Given the description of an element on the screen output the (x, y) to click on. 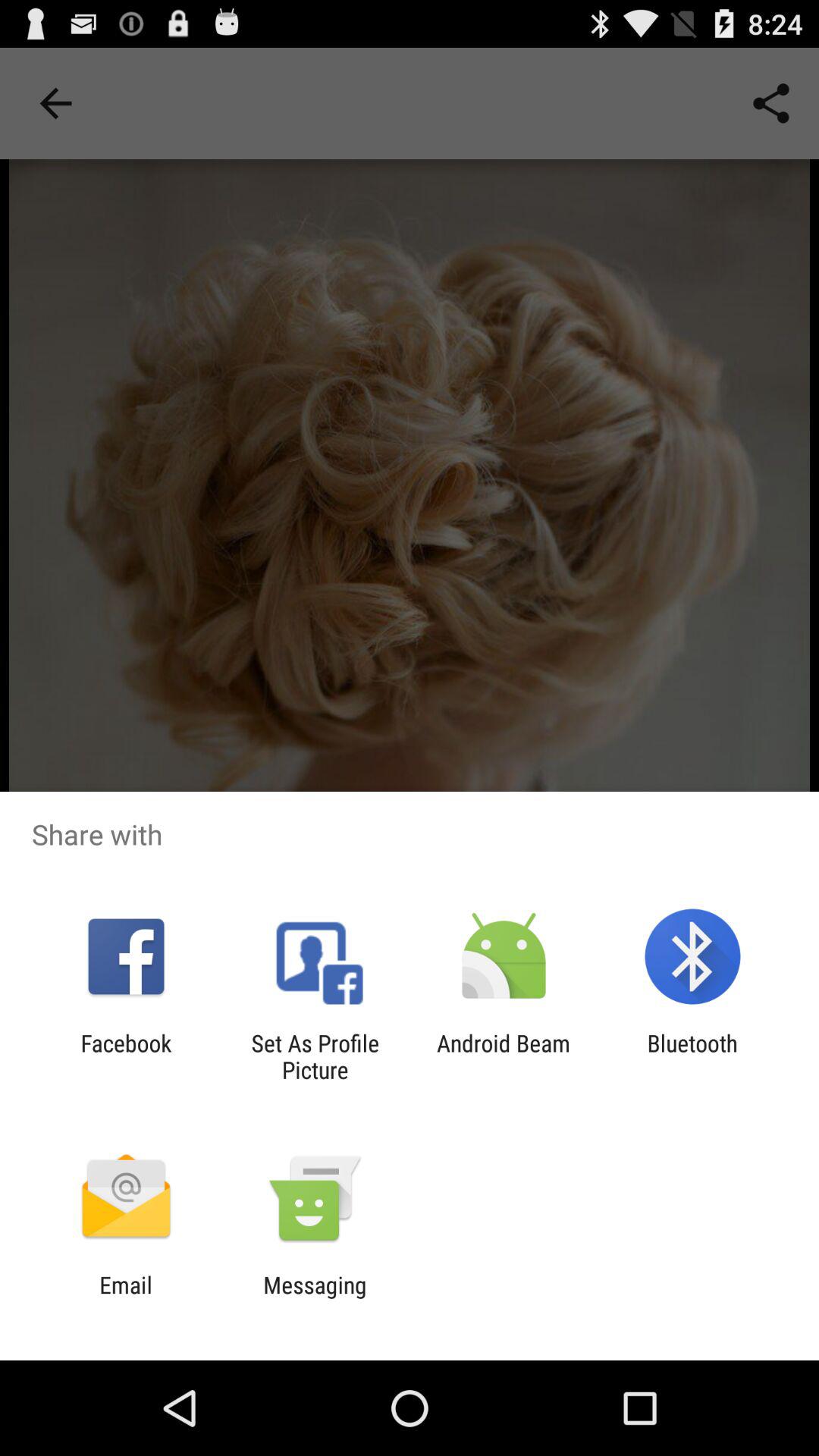
scroll until android beam app (503, 1056)
